Given the description of an element on the screen output the (x, y) to click on. 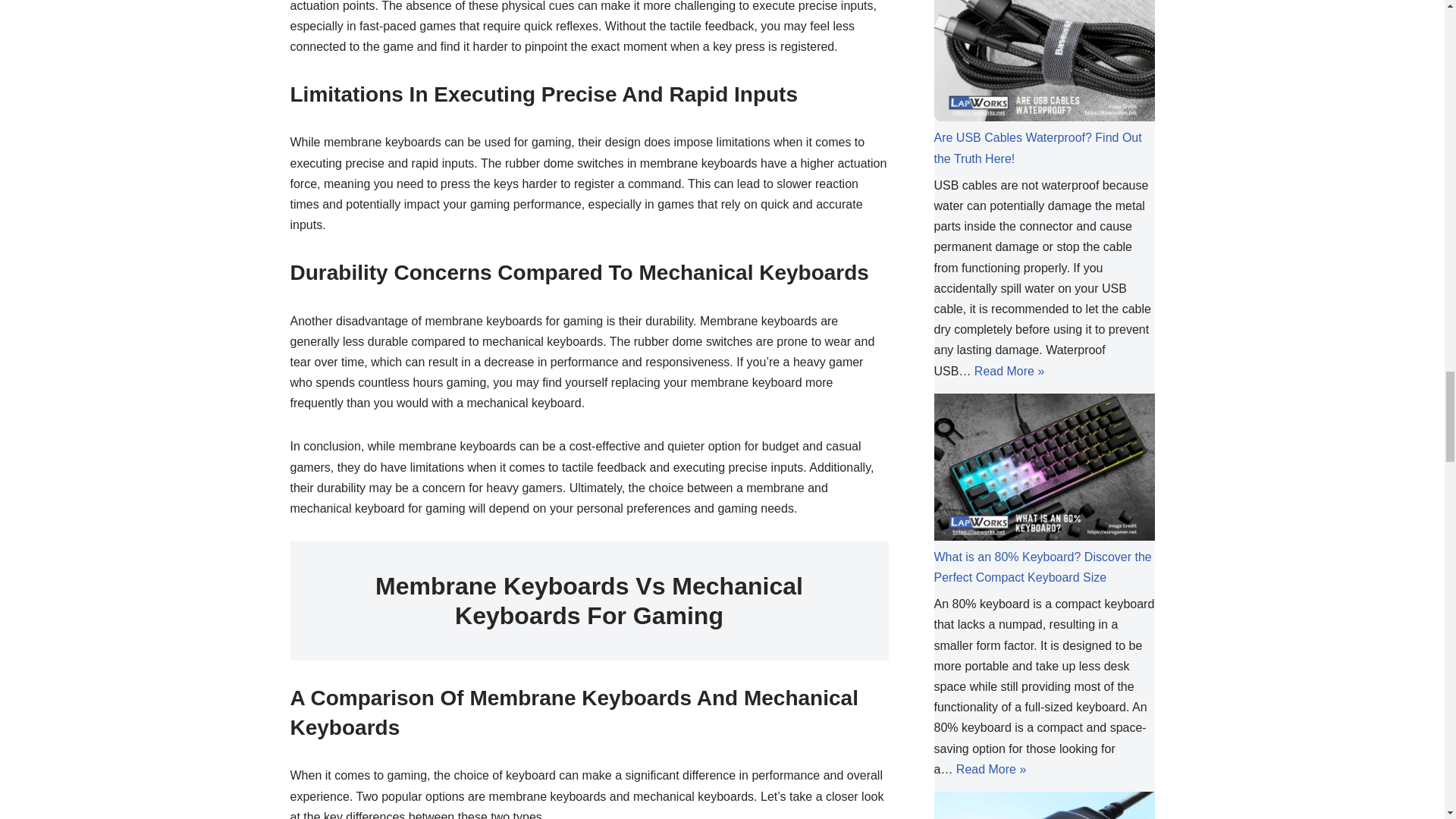
Are USB Cables Waterproof? Find Out the Truth Here! (1037, 147)
